Given the description of an element on the screen output the (x, y) to click on. 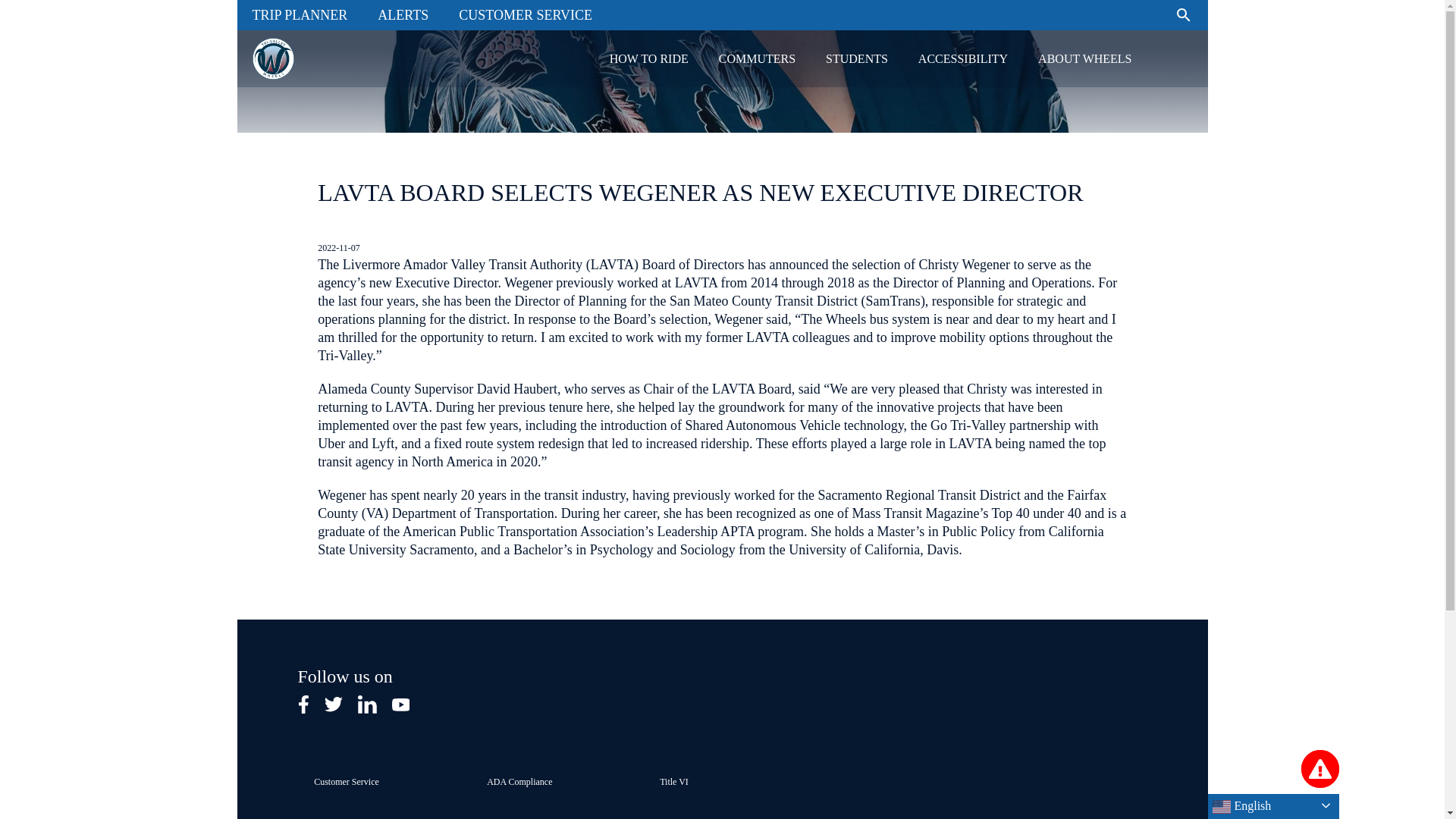
LinkedIn (367, 704)
COMMUTERS (756, 58)
STUDENTS (856, 58)
Students (856, 58)
LAVTA BOARD SELECTS WEGENER AS NEW EXECUTIVE DIRECTOR (700, 192)
ABOUT WHEELS (1085, 58)
Ride the bus (648, 58)
ACCESSIBILITY (962, 58)
Twitter (333, 703)
YouTube (400, 704)
2022-11-07 (338, 246)
ALERTS (403, 15)
HOW TO RIDE (648, 58)
TRIP PLANNER (298, 15)
RIDER ALERTS (1320, 768)
